Given the description of an element on the screen output the (x, y) to click on. 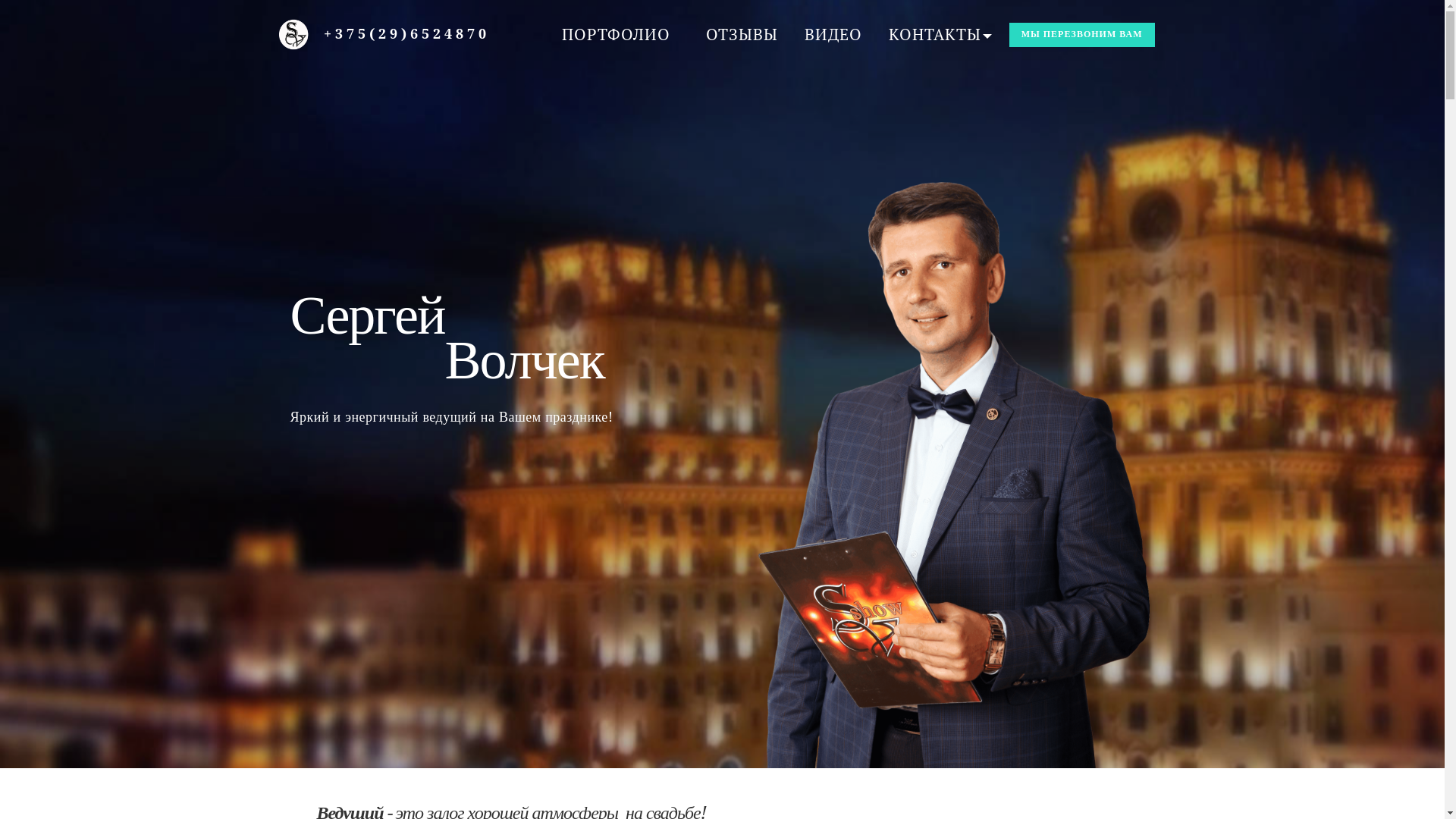
+375(29)6524870 Element type: text (406, 33)
